Given the description of an element on the screen output the (x, y) to click on. 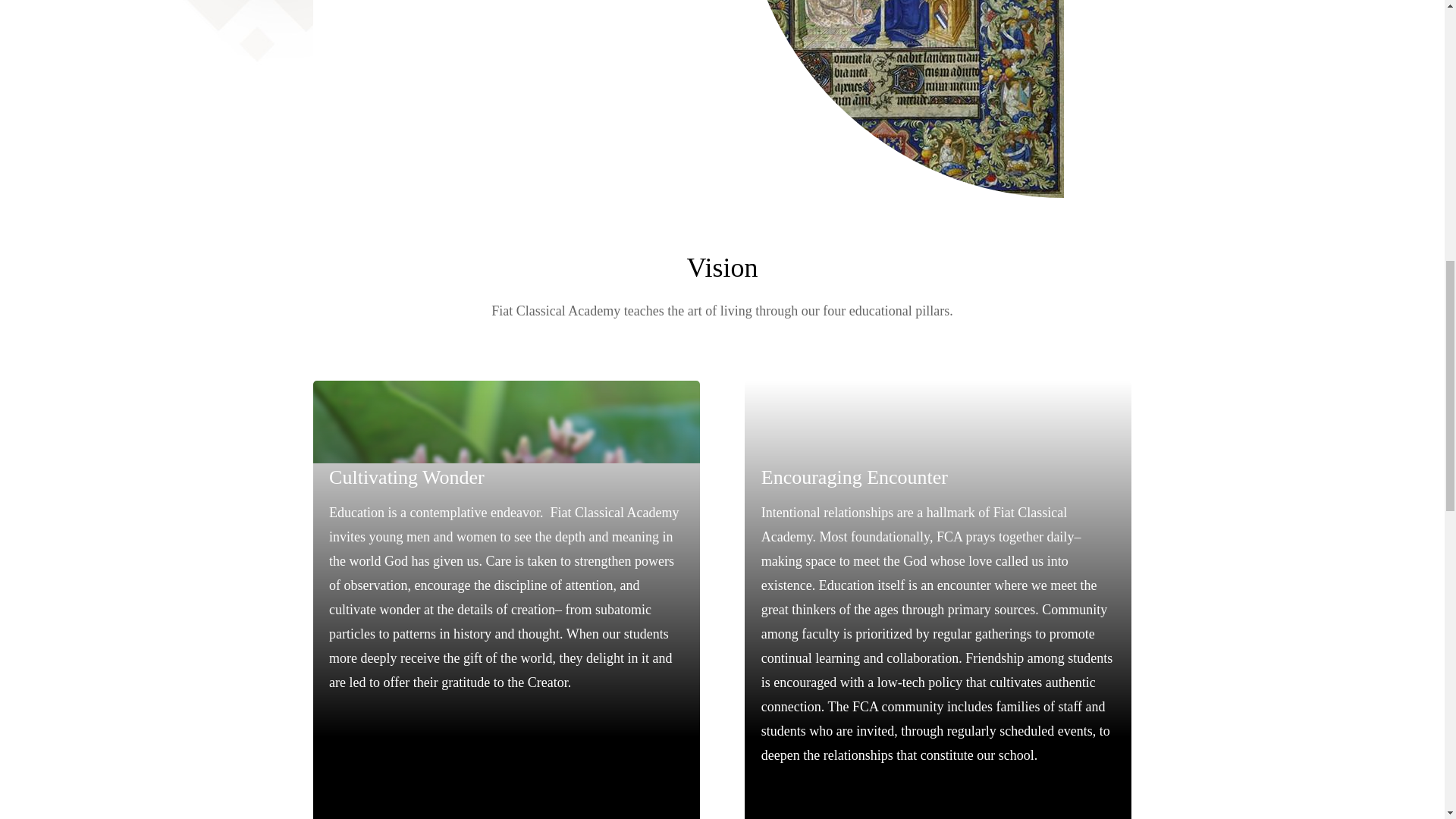
annunciation.jpg!Large (903, 99)
